Given the description of an element on the screen output the (x, y) to click on. 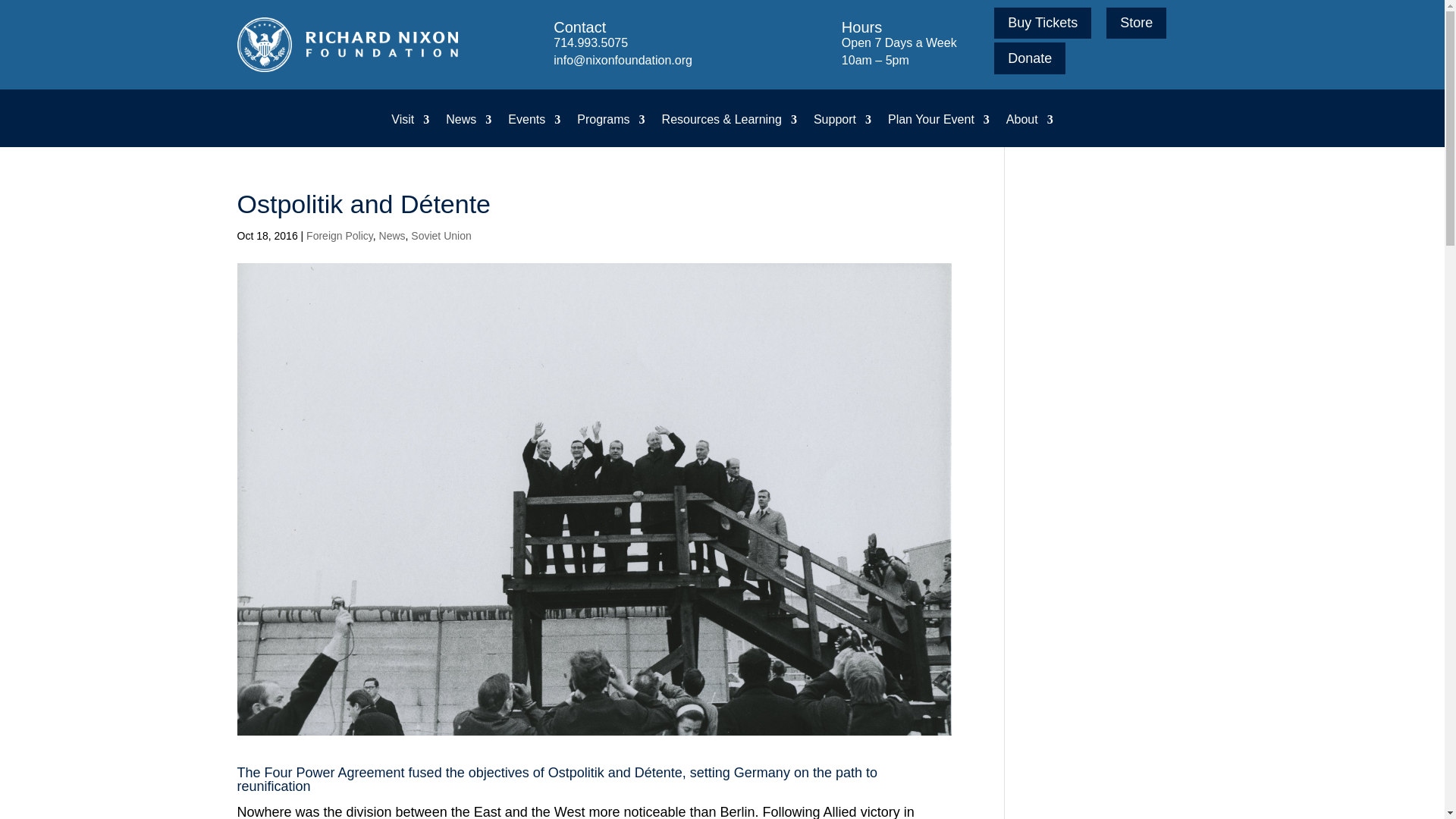
Support (841, 130)
rnf-logo-2020 (346, 44)
News (468, 130)
Buy Tickets (1042, 22)
Store (1136, 22)
Donate (1029, 57)
Programs (610, 130)
Visit (410, 130)
Events (534, 130)
714.993.5075 (590, 42)
